Given the description of an element on the screen output the (x, y) to click on. 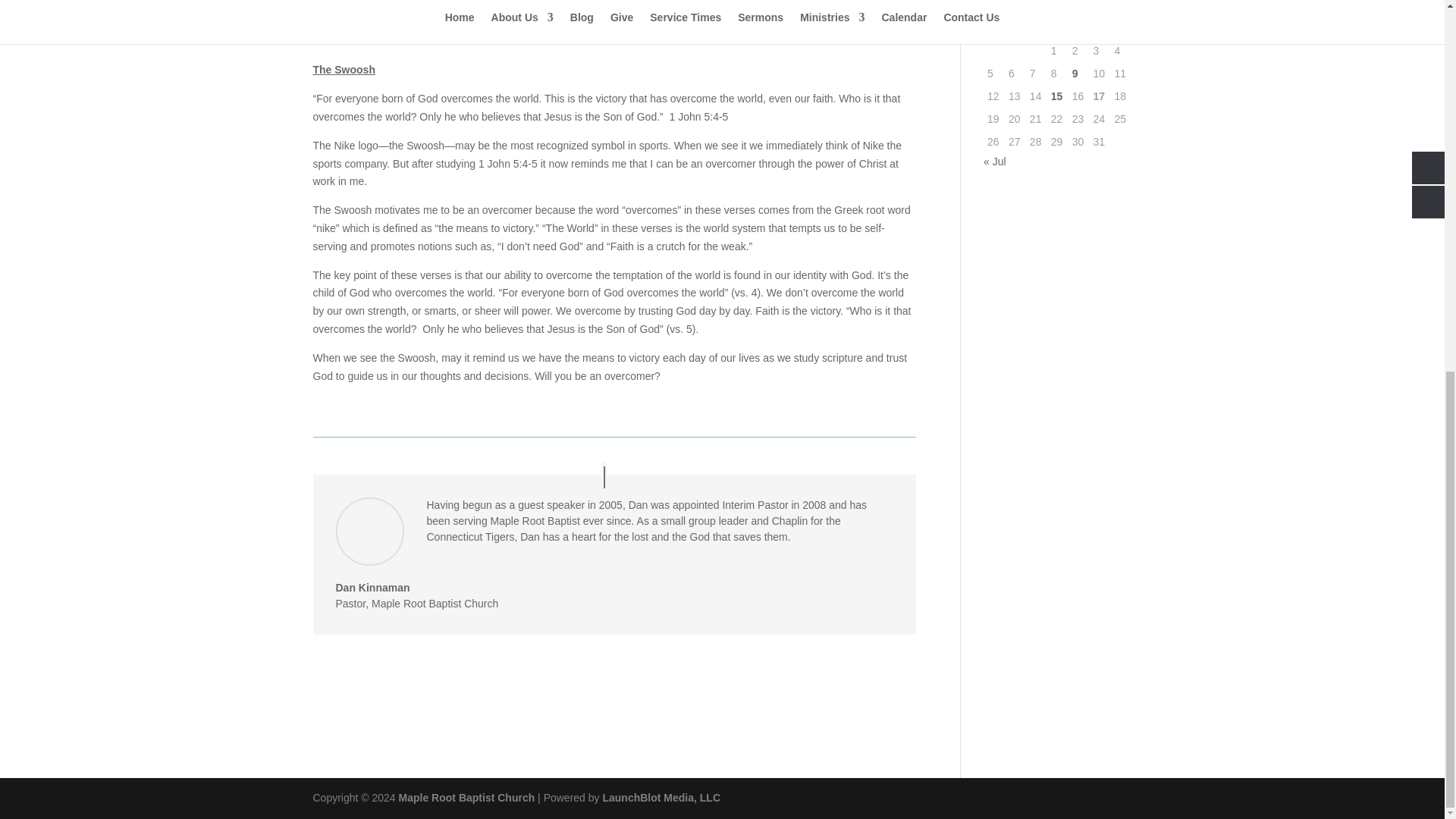
Friday (1078, 29)
Tuesday (1015, 29)
Wednesday (1036, 29)
Maple Root Baptist Church (466, 797)
Thursday (1057, 29)
Sunday (1120, 29)
Saturday (1099, 29)
LaunchBlot Media, LLC (661, 797)
Monday (994, 29)
Maple Root Baptist Church (466, 797)
